Given the description of an element on the screen output the (x, y) to click on. 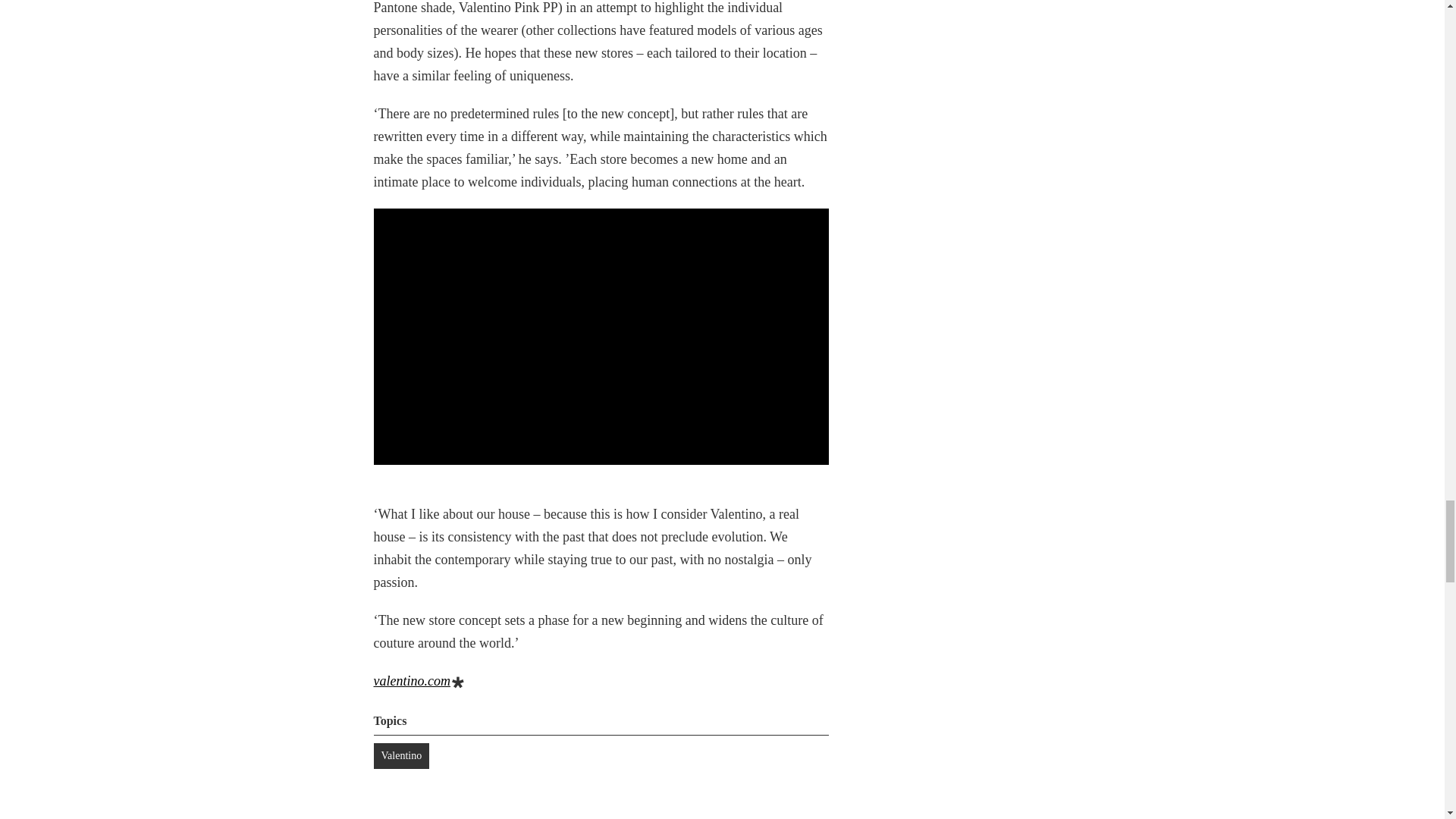
valentino.com (410, 680)
Valentino (400, 755)
